Given the description of an element on the screen output the (x, y) to click on. 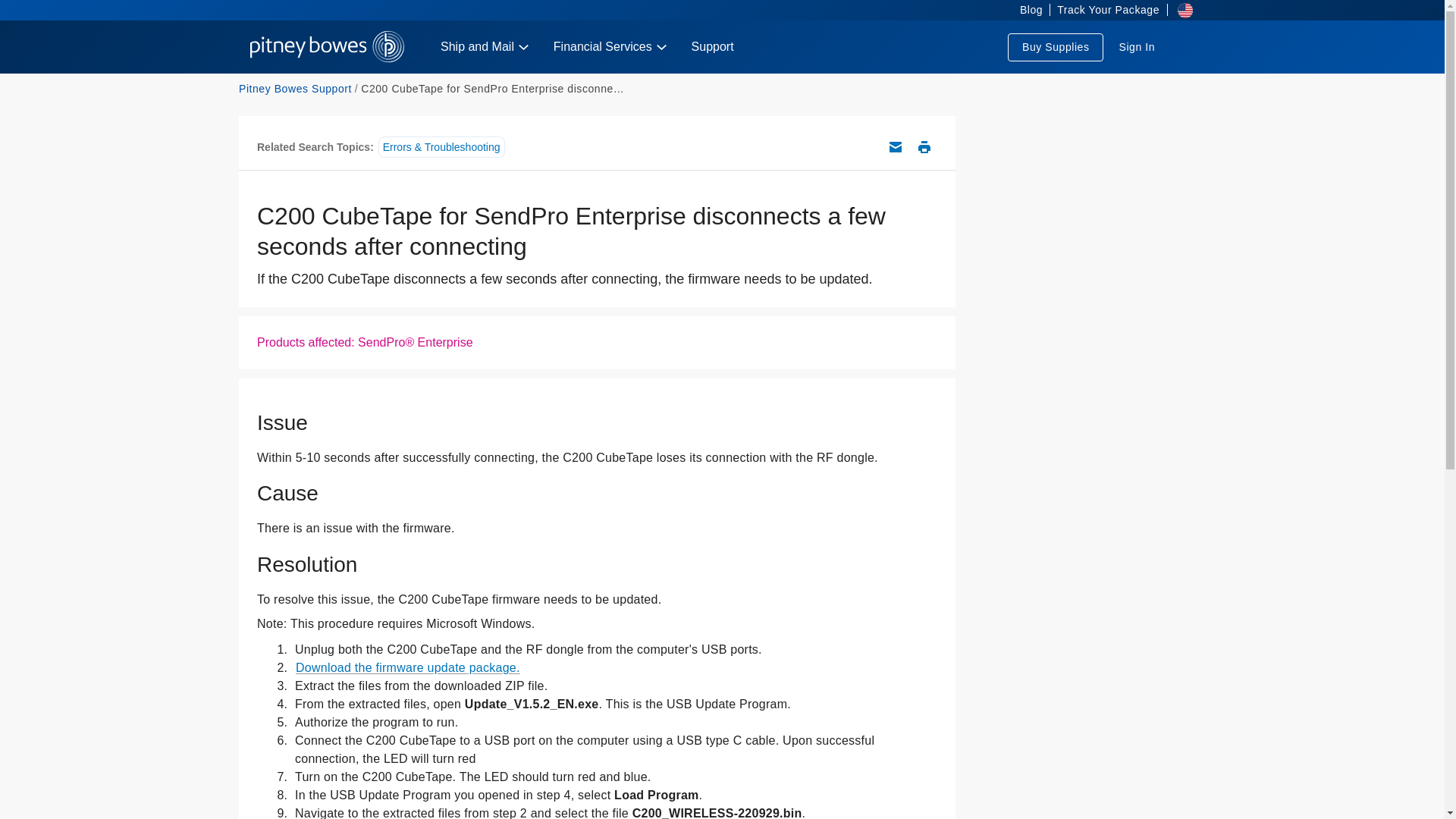
Ship and Mail (484, 46)
Track Your Package (1107, 10)
Choose a region (1180, 10)
Email this support article (895, 146)
Financial Services (610, 46)
Pitney Bowes Support (295, 88)
Blog (1026, 10)
Your account (1135, 46)
Buy Supplies (1055, 46)
Blog (1026, 10)
Sign In (1135, 46)
Track Your Package (1107, 10)
US (327, 47)
Print this support article (924, 146)
Support (712, 46)
